Given the description of an element on the screen output the (x, y) to click on. 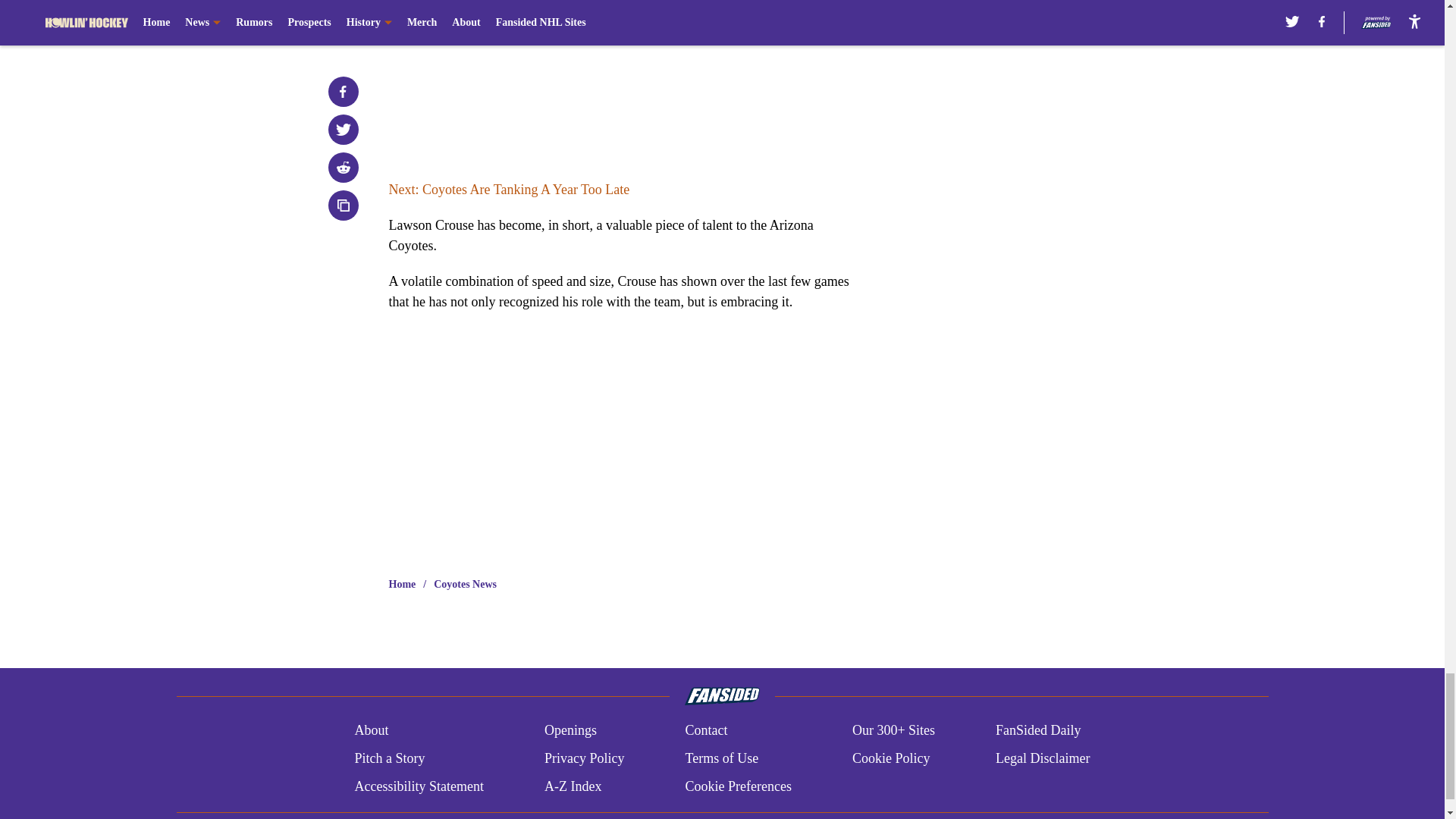
Home (401, 584)
Next: Coyotes Are Tanking A Year Too Late (508, 189)
Coyotes News (464, 584)
